Given the description of an element on the screen output the (x, y) to click on. 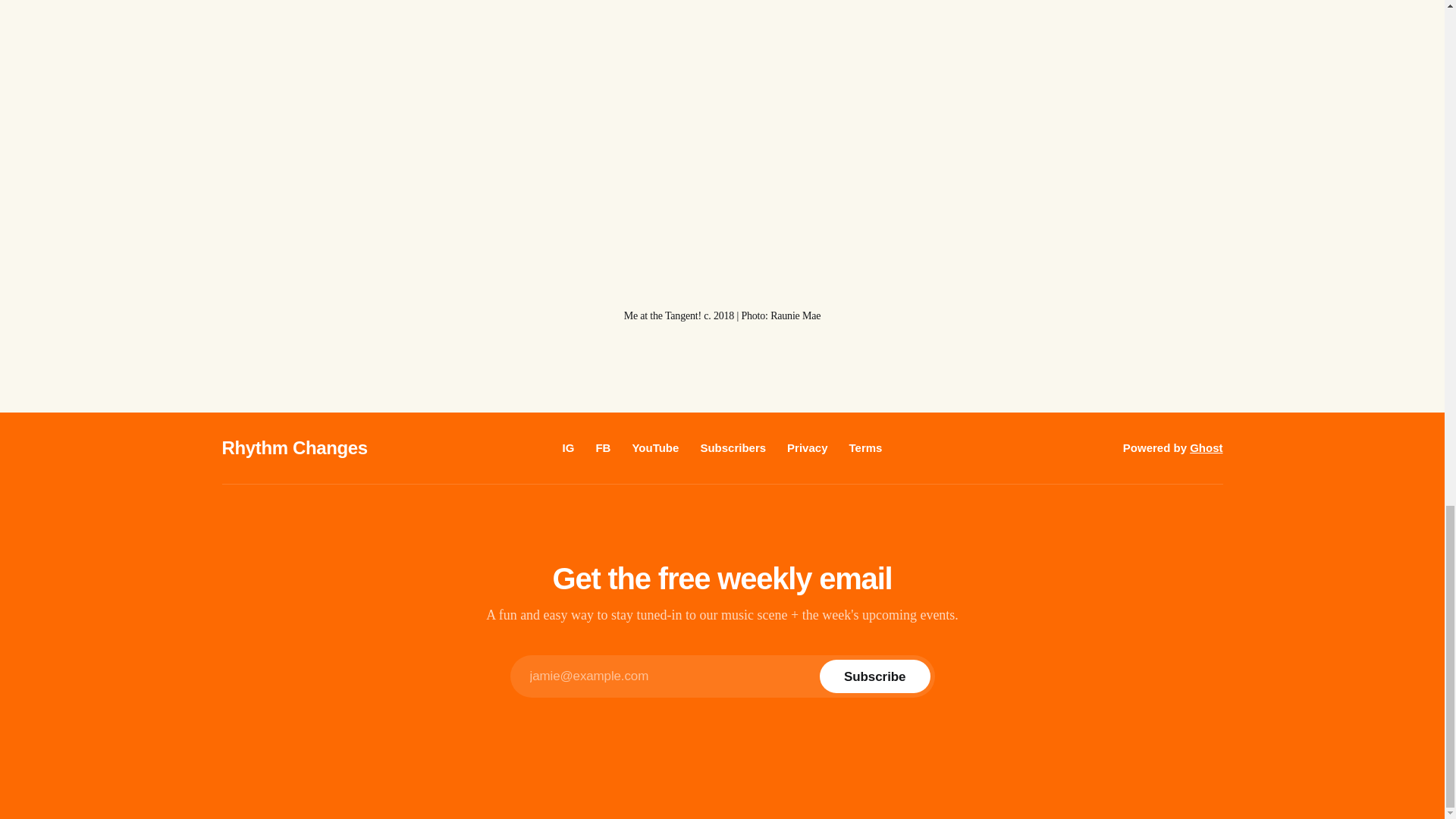
Privacy (807, 447)
FB (602, 447)
Subscribe (874, 676)
Terms (865, 447)
IG (568, 447)
Ghost (1206, 447)
Subscribers (732, 447)
YouTube (654, 447)
